Given the description of an element on the screen output the (x, y) to click on. 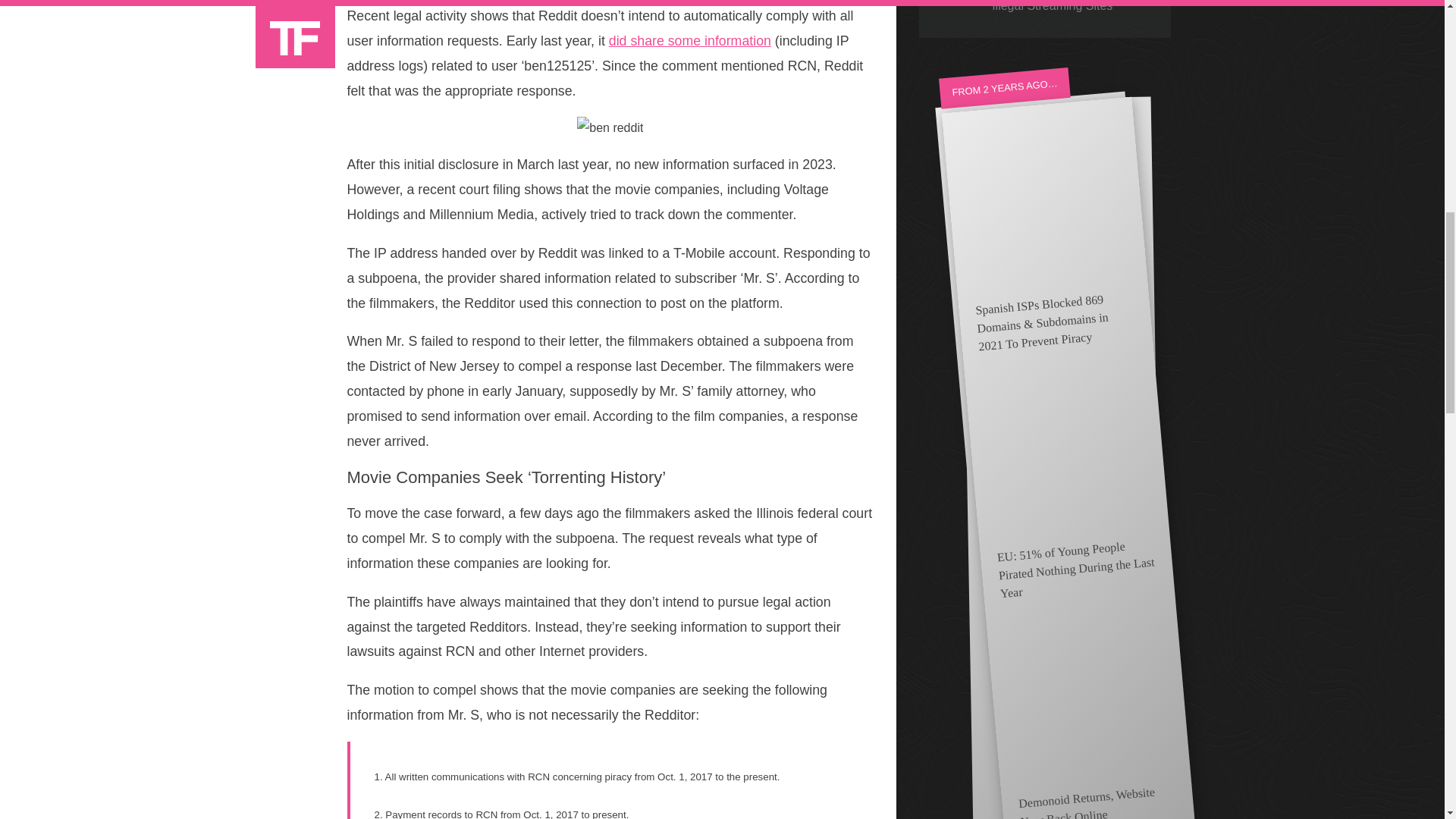
did share some information (689, 40)
